Given the description of an element on the screen output the (x, y) to click on. 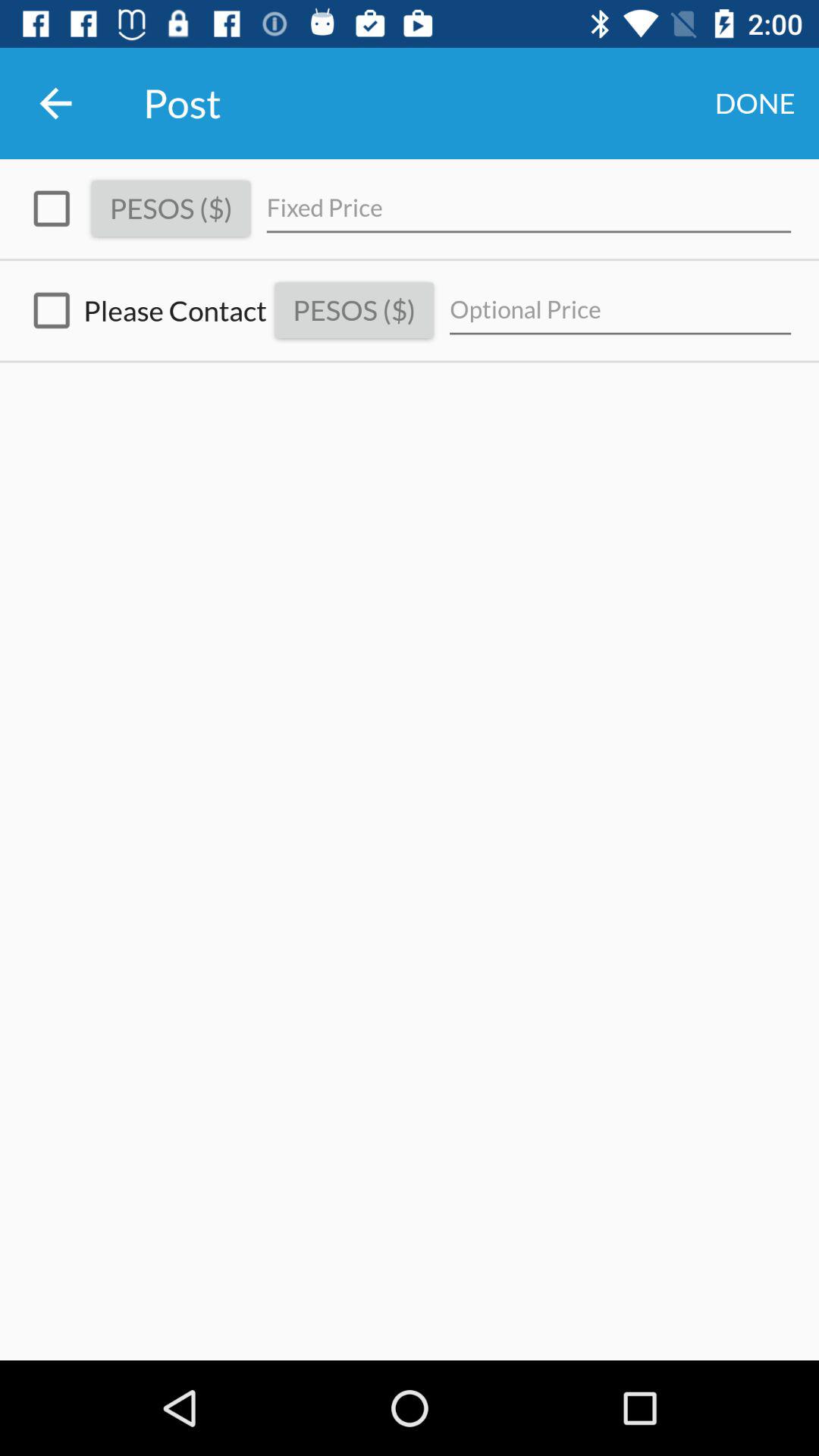
launch the please contact (142, 310)
